Given the description of an element on the screen output the (x, y) to click on. 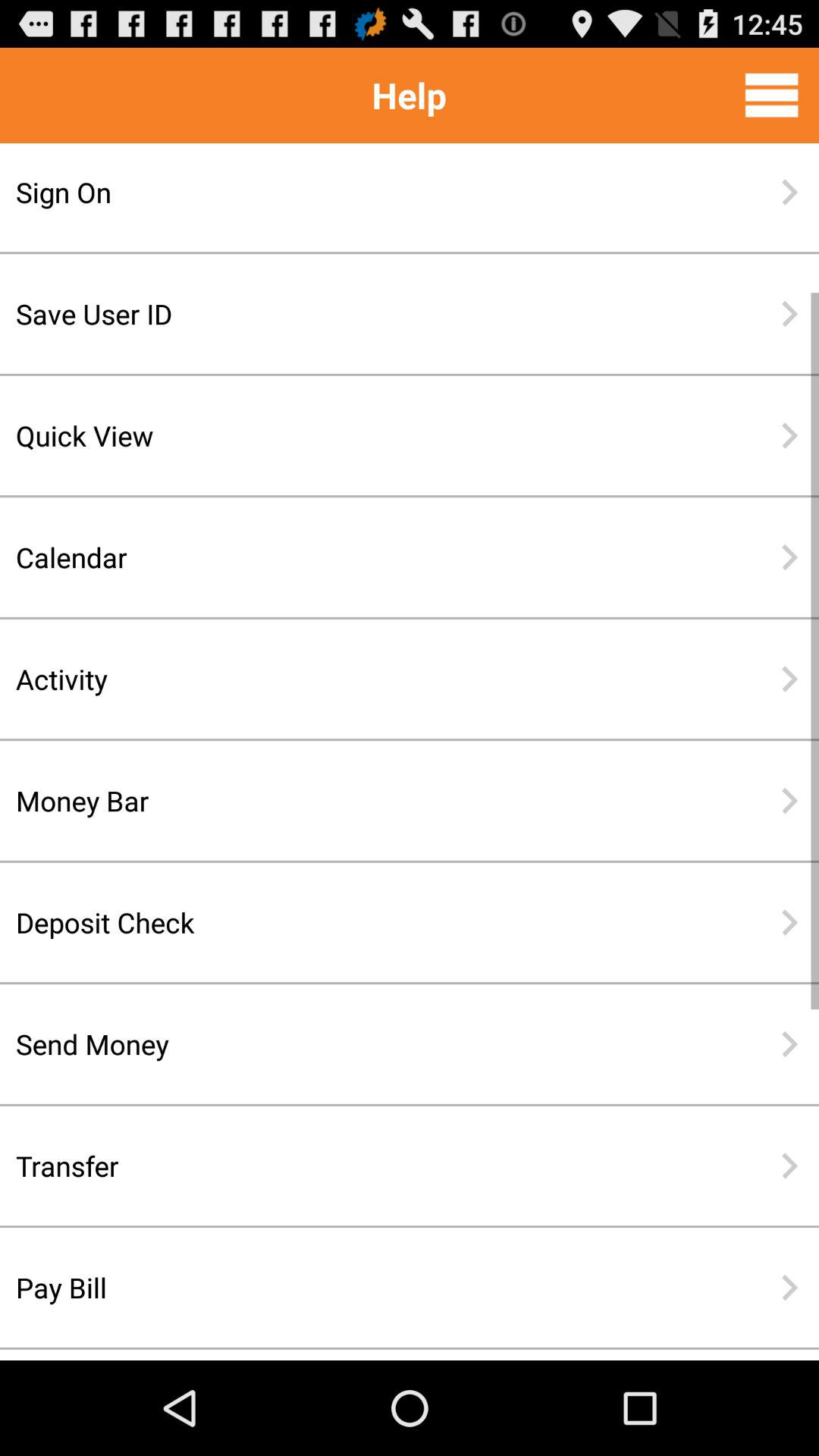
launch the icon to the right of the calendar item (789, 557)
